Given the description of an element on the screen output the (x, y) to click on. 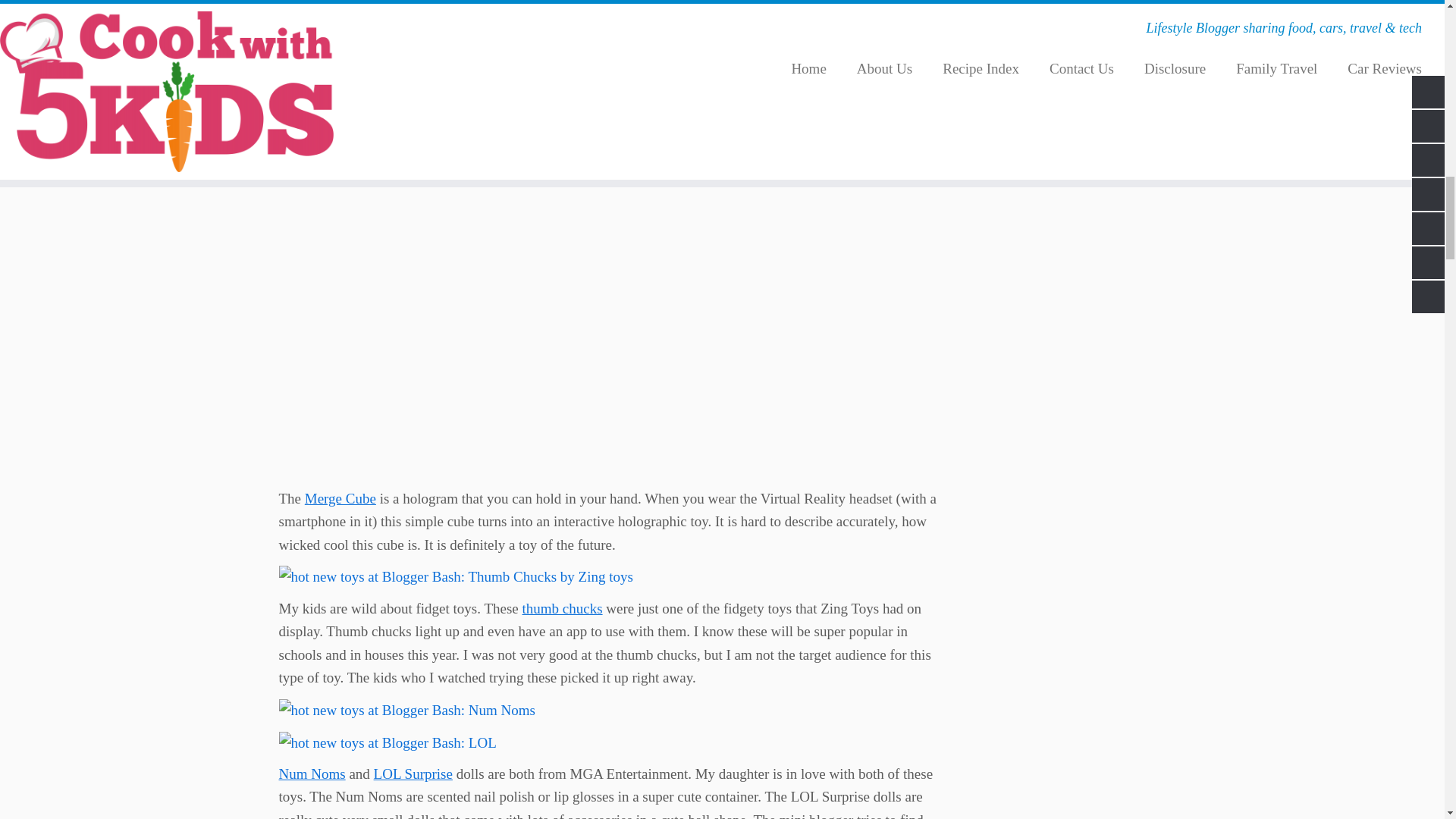
LOL Surprise (413, 773)
Merge Cube (339, 498)
Num Noms (312, 773)
thumb chucks (562, 608)
